Given the description of an element on the screen output the (x, y) to click on. 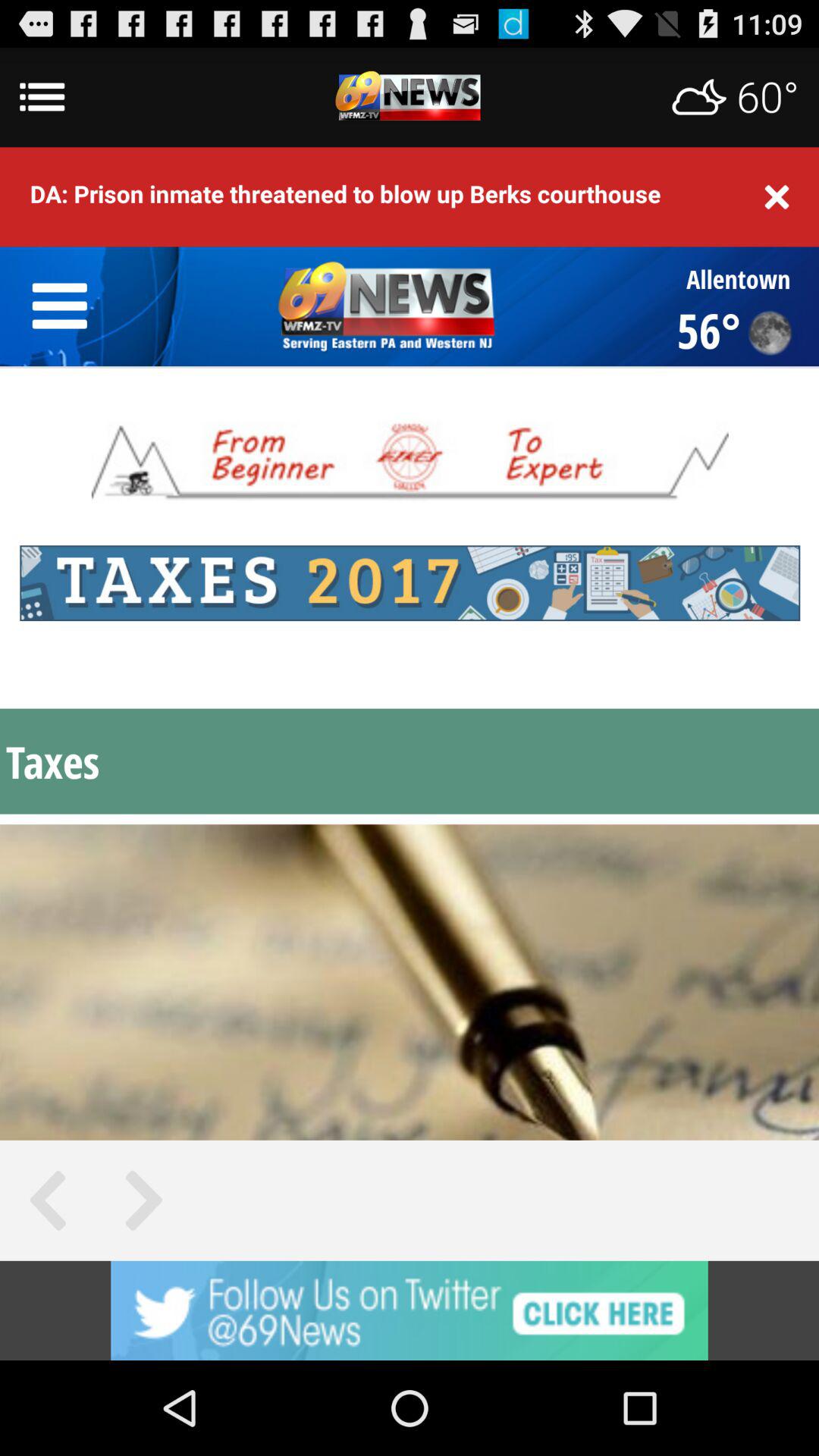
open options menu (409, 97)
